Given the description of an element on the screen output the (x, y) to click on. 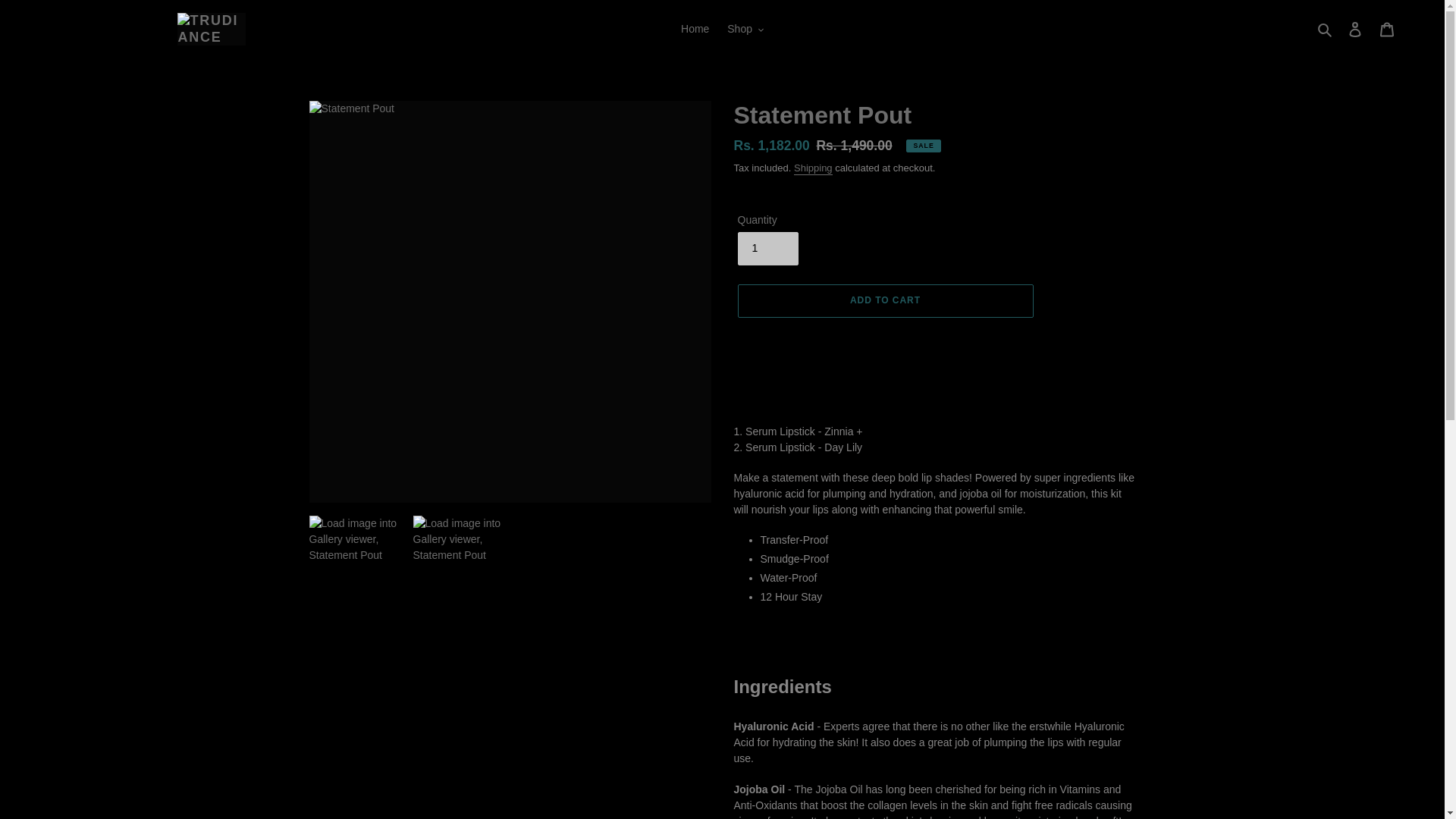
Cart (1387, 29)
Home (694, 28)
Search (1326, 28)
Shop (745, 28)
1 (766, 248)
Log in (1355, 29)
